Given the description of an element on the screen output the (x, y) to click on. 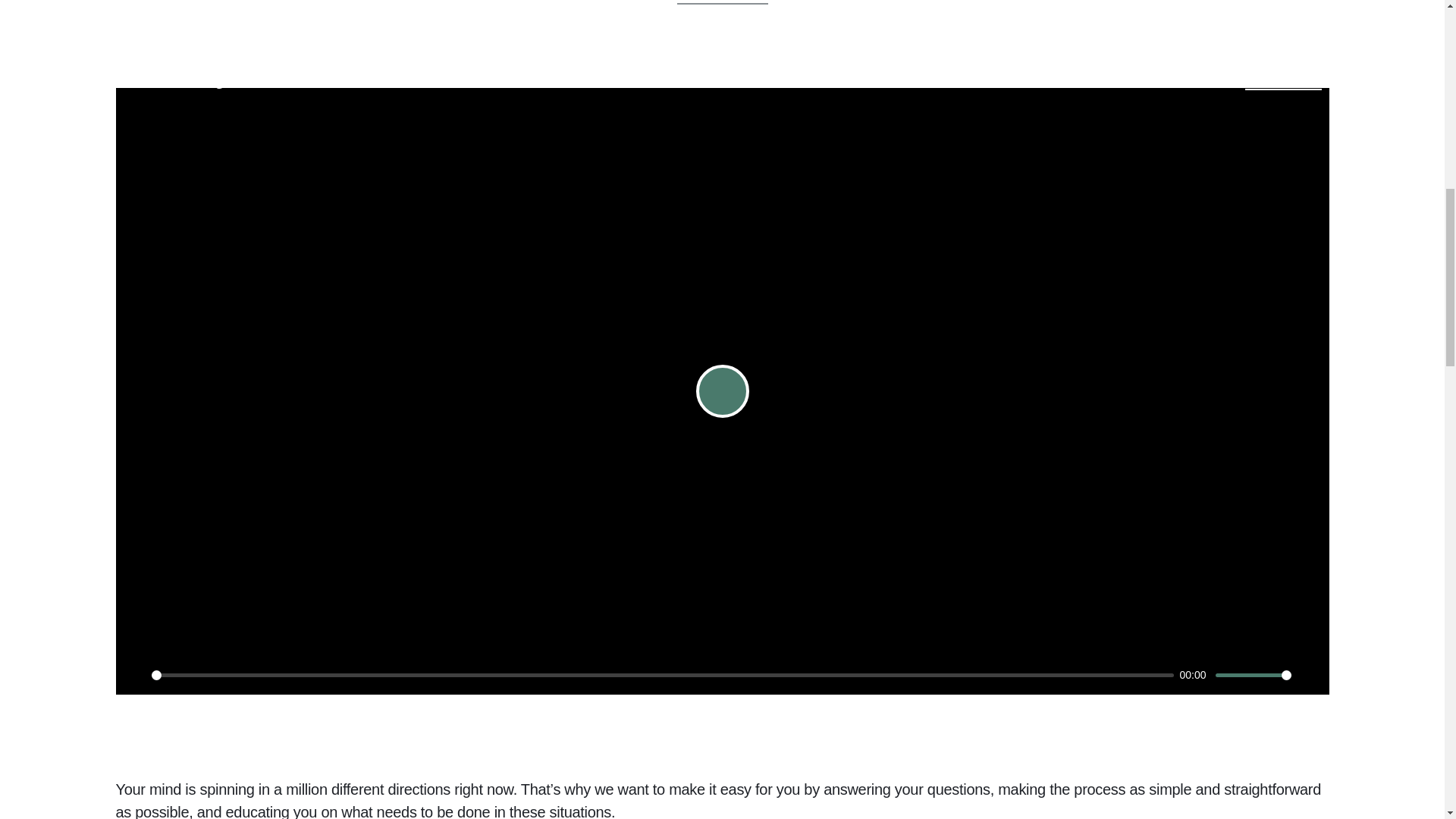
Enter fullscreen (1308, 674)
Play (722, 390)
1 (1253, 675)
Play (134, 674)
0 (662, 675)
